Given the description of an element on the screen output the (x, y) to click on. 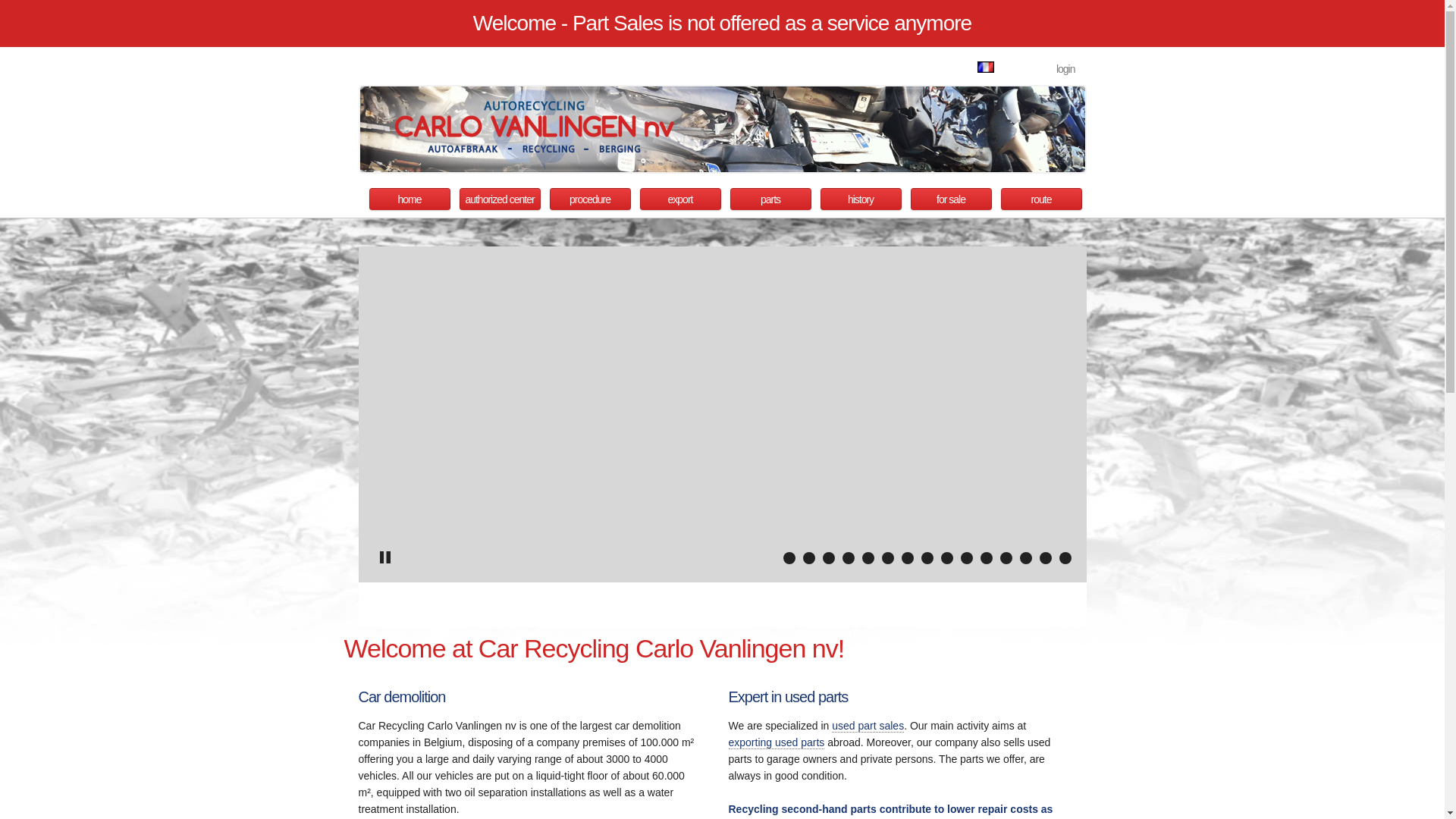
for sale Element type: text (950, 199)
history Element type: text (860, 199)
parts Element type: text (769, 199)
export Element type: text (680, 199)
used part sales Element type: text (867, 725)
home Element type: text (408, 199)
authorized center Element type: text (499, 199)
route Element type: text (1041, 199)
exporting used parts Element type: text (776, 742)
login Element type: text (1065, 68)
procedure Element type: text (589, 199)
